Given the description of an element on the screen output the (x, y) to click on. 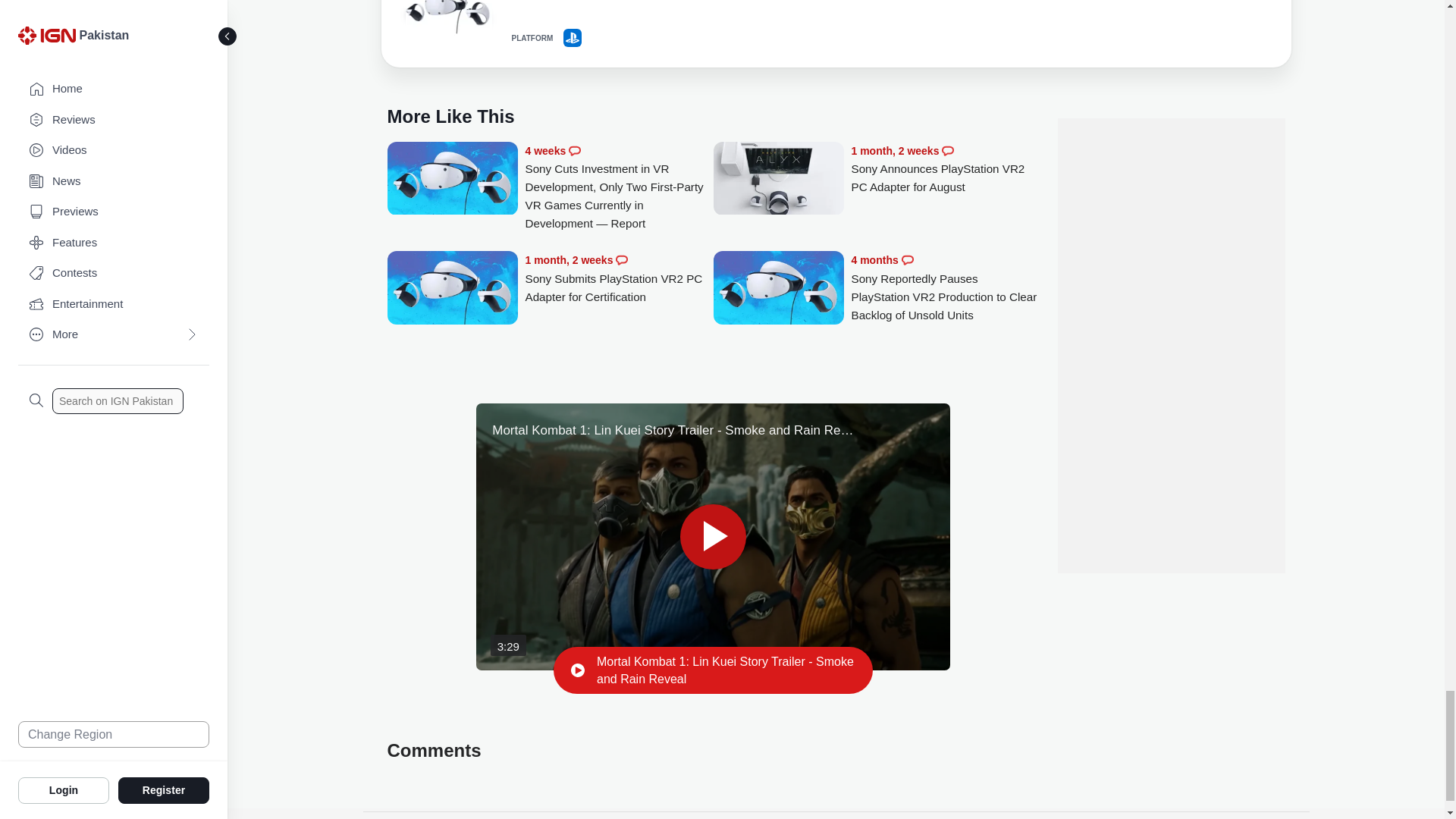
Comments (947, 150)
Comments (621, 259)
Comments (574, 150)
PlayStation VR 2 (448, 25)
Sony Announces PlayStation VR2 PC Adapter for August (778, 179)
Comments (907, 259)
PlayStation VR 2 (448, 22)
Sony Submits PlayStation VR2 PC Adapter for Certification (618, 278)
PS5 (571, 37)
Sony Submits PlayStation VR2 PC Adapter for Certification (451, 288)
Sony Announces PlayStation VR2 PC Adapter for August (944, 169)
